Given the description of an element on the screen output the (x, y) to click on. 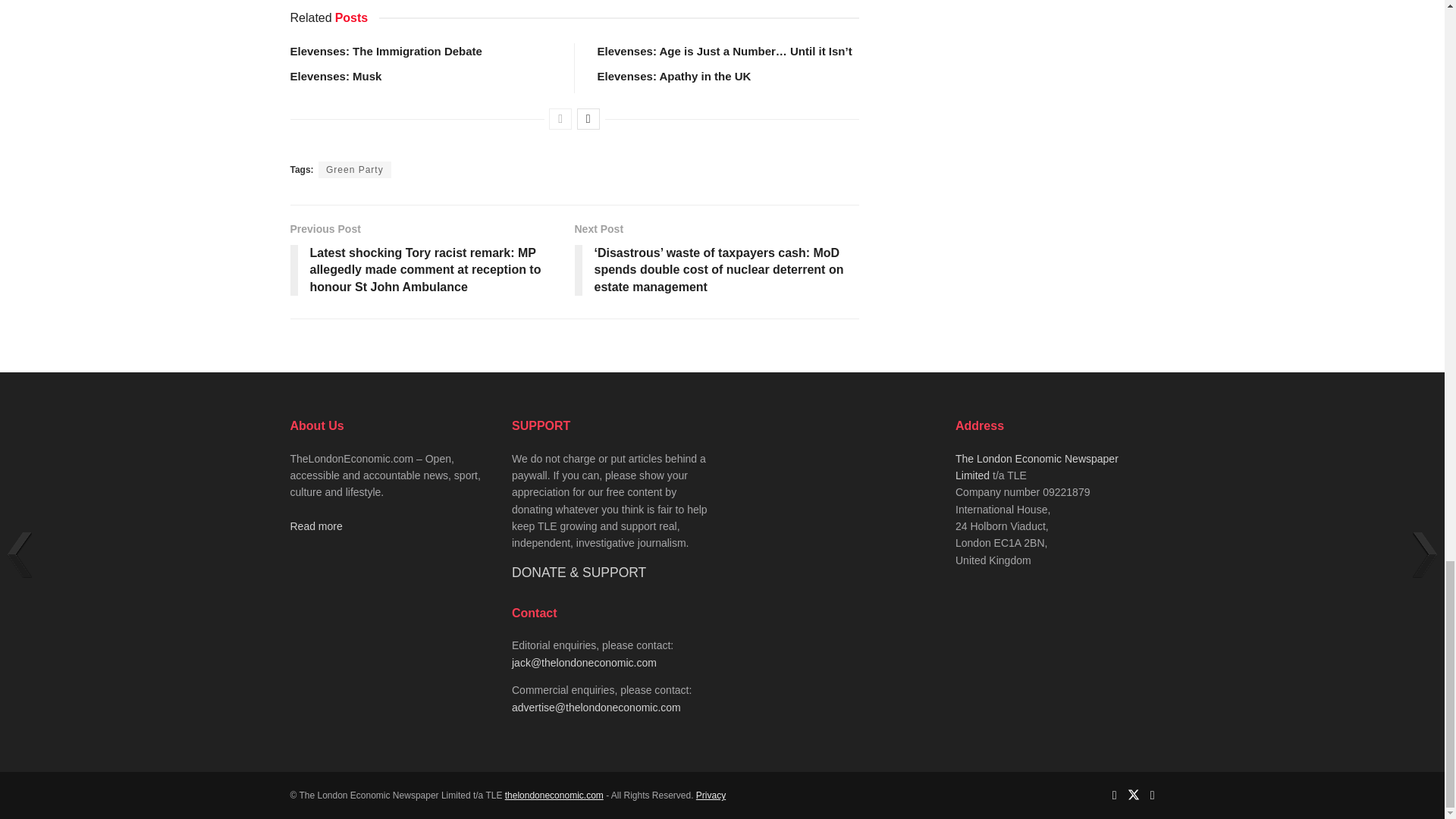
Privacy (710, 795)
Next (587, 118)
Previous (560, 118)
The London Economic (554, 795)
